Given the description of an element on the screen output the (x, y) to click on. 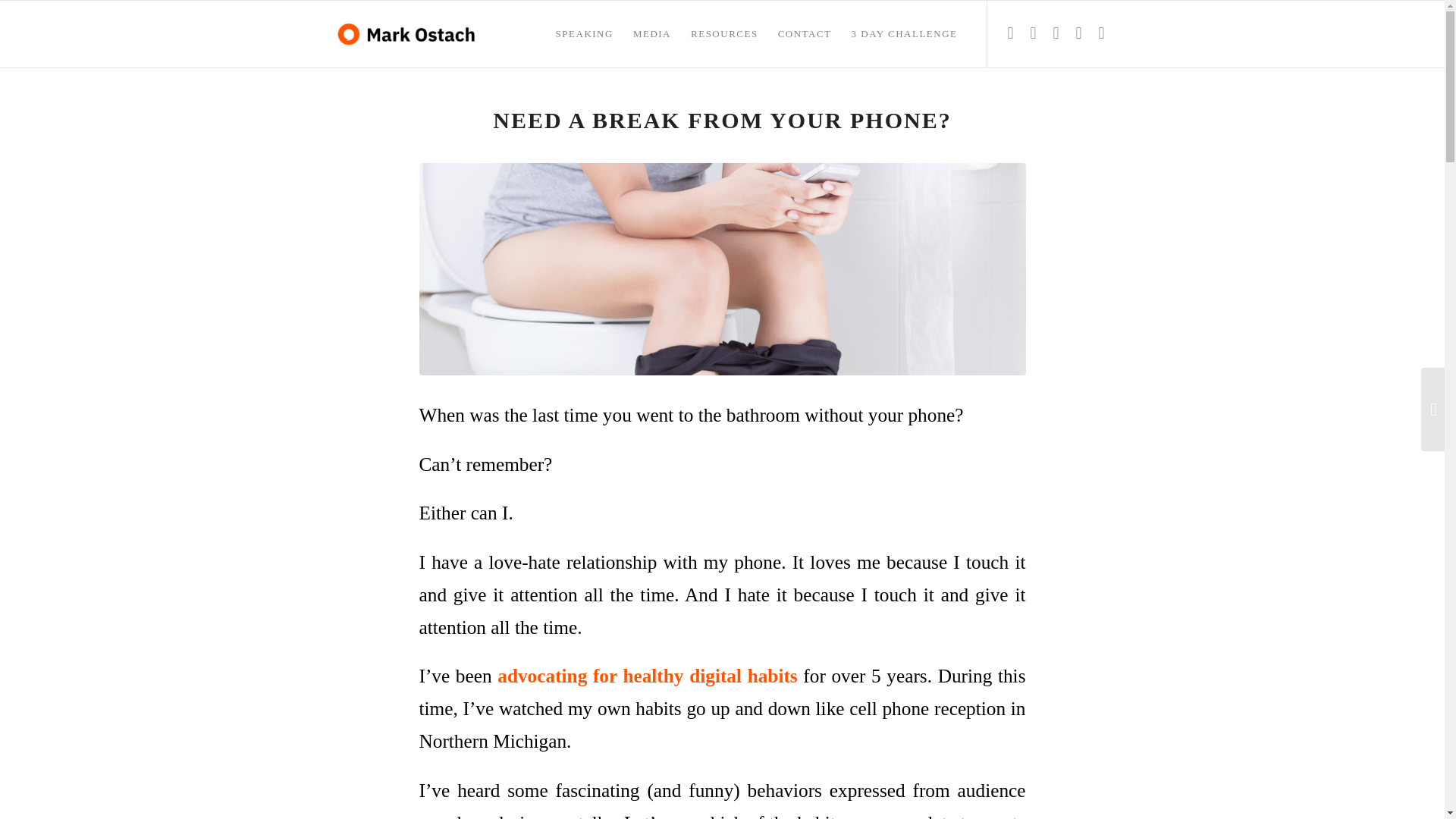
SPEAKING (584, 33)
Instagram (1033, 33)
advocating for healthy digital habits (646, 675)
Untitled design (722, 268)
3 DAY CHALLENGE (904, 33)
CONTACT (804, 33)
Youtube (1101, 33)
LinkedIn (1010, 33)
Twitter (1078, 33)
RESOURCES (724, 33)
